Given the description of an element on the screen output the (x, y) to click on. 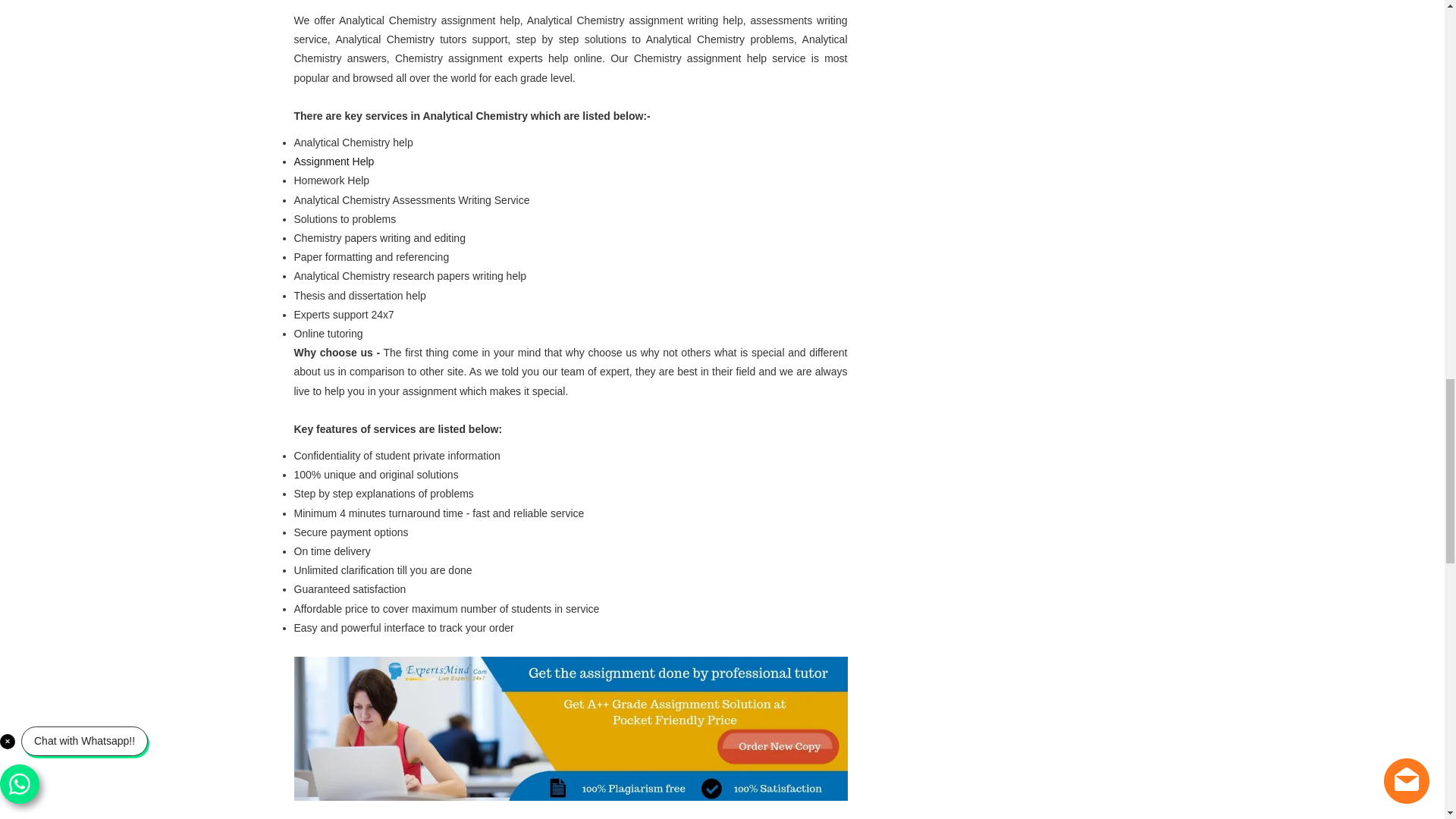
Assignment Help (334, 161)
